Given the description of an element on the screen output the (x, y) to click on. 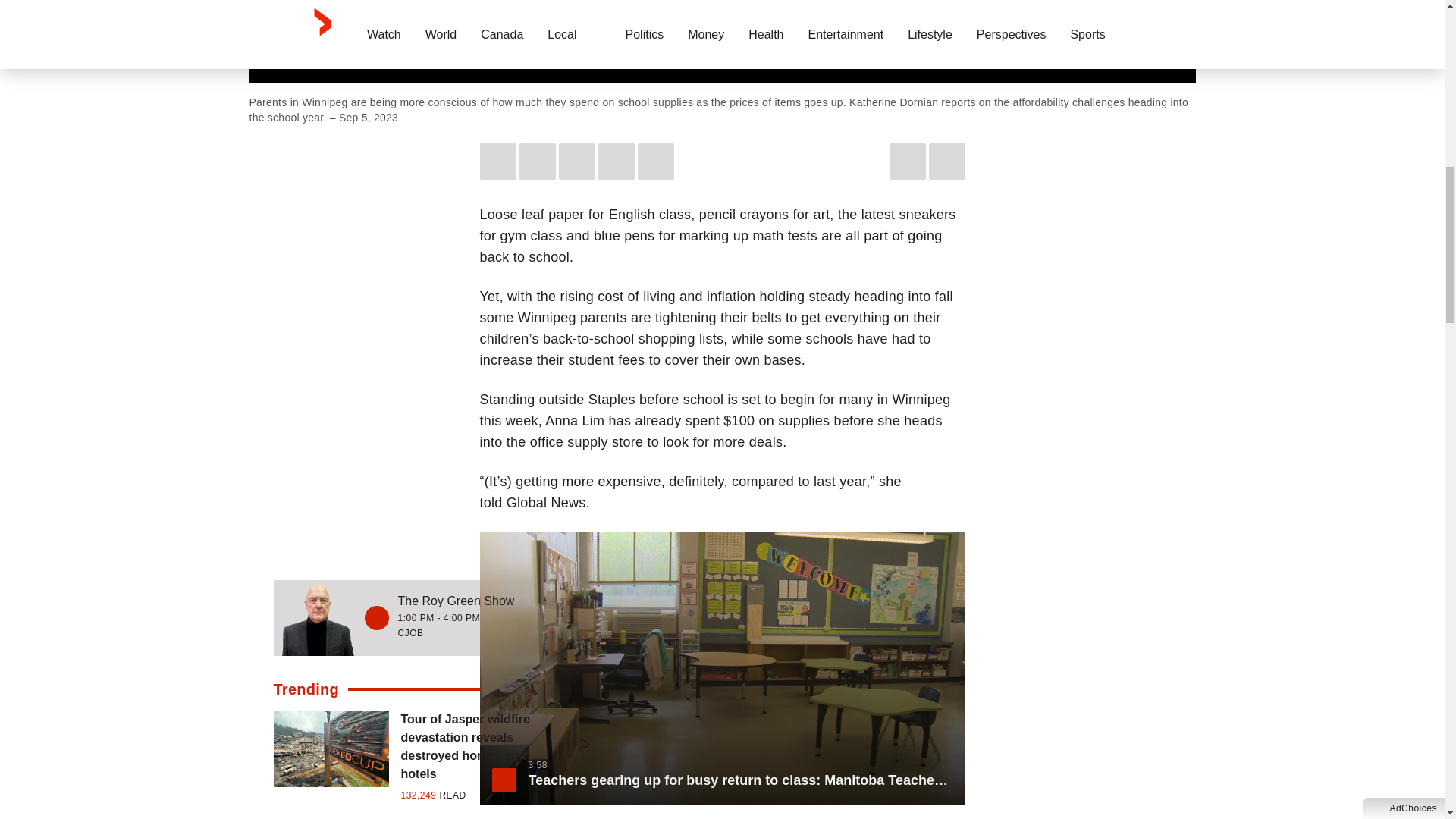
Sticky Video (721, 41)
